Given the description of an element on the screen output the (x, y) to click on. 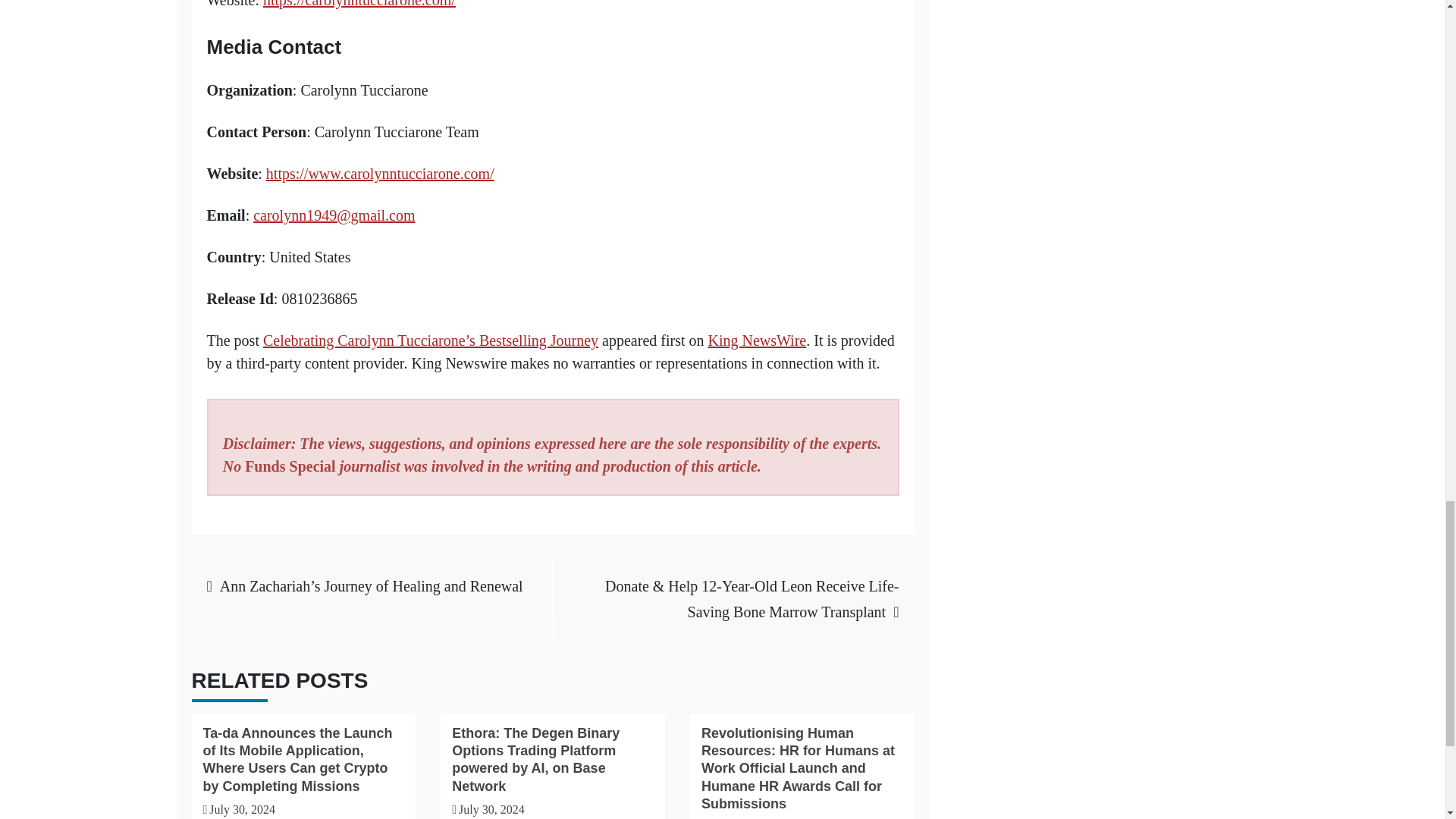
July 30, 2024 (491, 809)
July 30, 2024 (242, 809)
King NewsWire (756, 340)
